Given the description of an element on the screen output the (x, y) to click on. 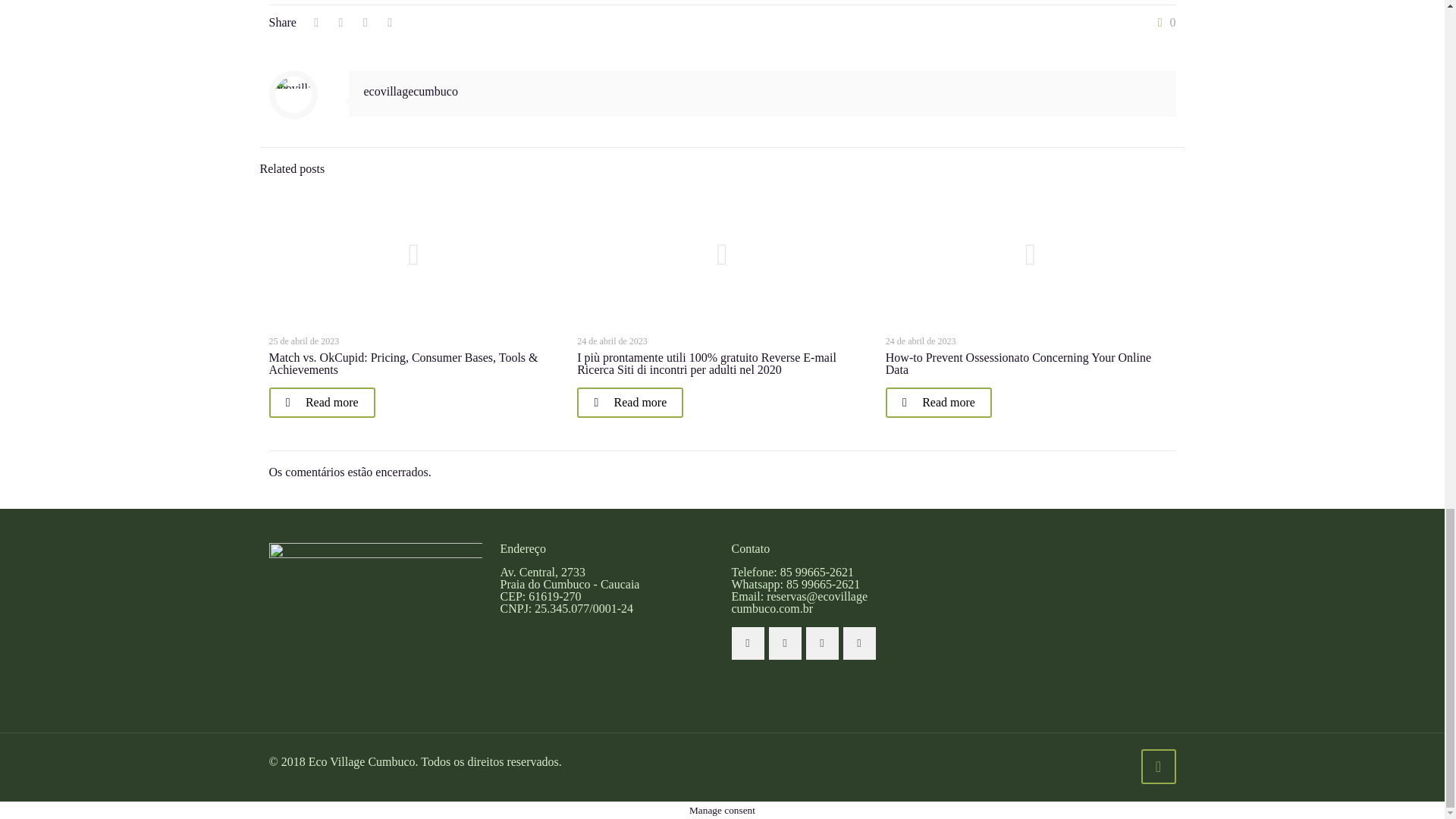
ecovillagecumbuco (411, 91)
Read more (320, 402)
Read more (629, 402)
0 (1162, 22)
Read more (938, 402)
How-to Prevent Ossessionato Concerning Your Online Data (1018, 363)
